Given the description of an element on the screen output the (x, y) to click on. 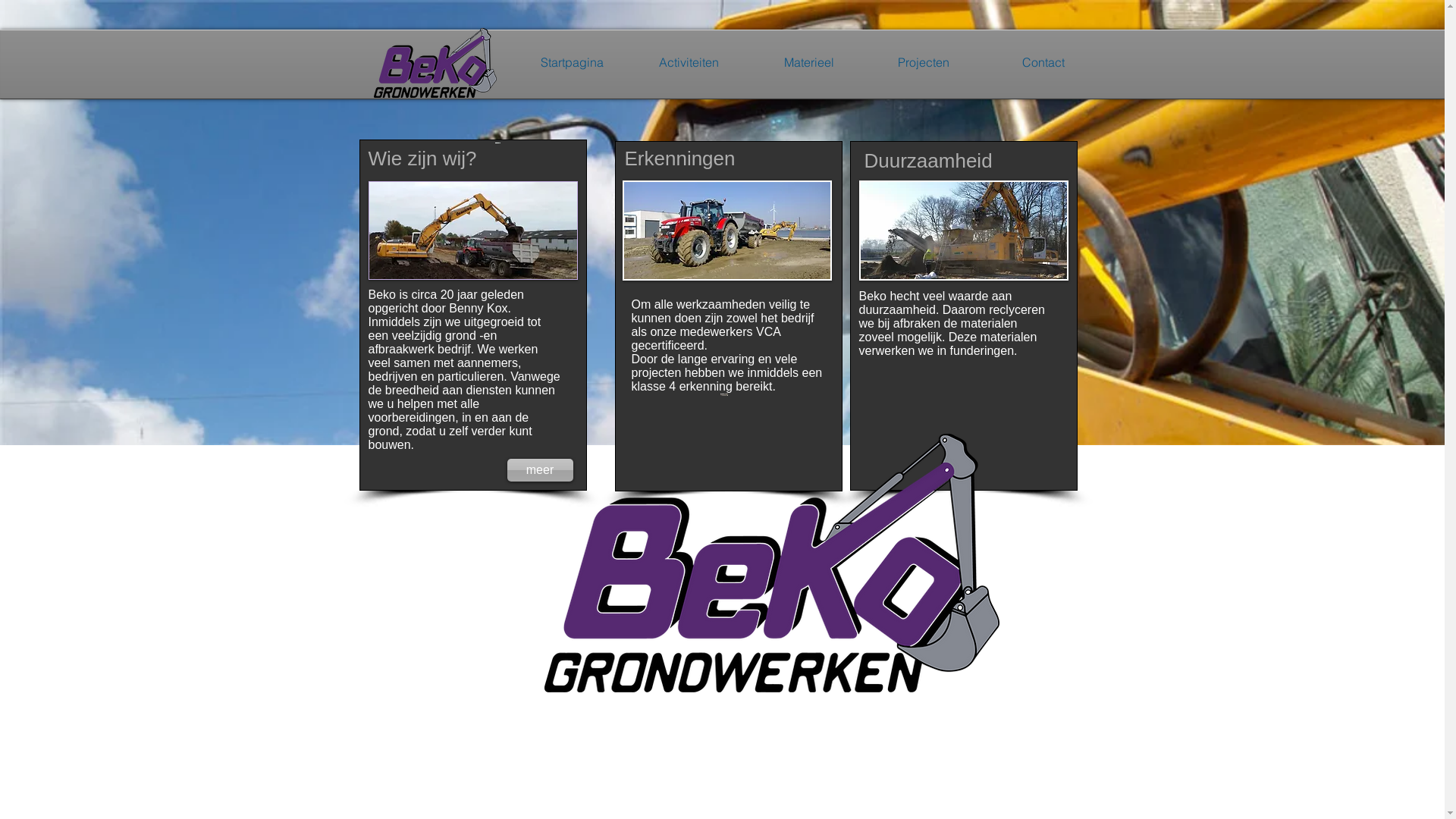
project kapelle Element type: hover (724, 393)
20151111_085330 (2).jpg Element type: hover (472, 230)
Logo beko.png Element type: hover (434, 62)
Startpagina Element type: text (552, 62)
Logo beko.png Element type: hover (771, 562)
1 (56).jpg Element type: hover (726, 230)
TWIPLA (Visitor Analytics) Element type: hover (452, 645)
20160119_104103 (2).jpg Element type: hover (962, 230)
Contact Element type: text (1014, 62)
Activiteiten Element type: text (668, 62)
Projecten Element type: text (899, 62)
1 (35).jpg Element type: hover (496, 141)
Materieel Element type: text (783, 62)
meer Element type: text (539, 469)
